Given the description of an element on the screen output the (x, y) to click on. 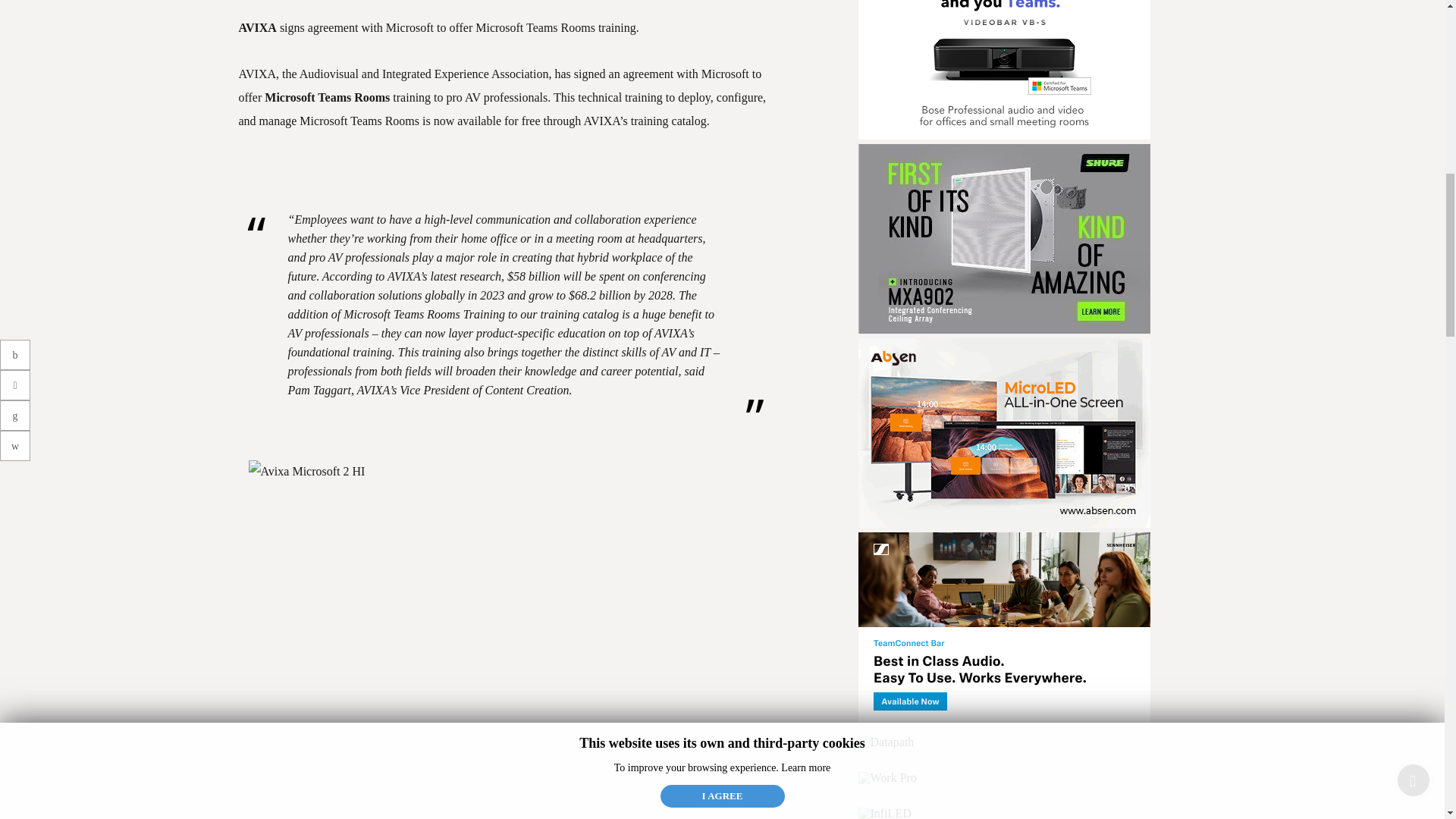
Sennheiser right (1008, 613)
BOSE Pro right EN (1008, 31)
Earpro Shure lateral (1008, 225)
Absen right (1008, 419)
Infiled right (888, 800)
Work Pro right (1008, 765)
